Given the description of an element on the screen output the (x, y) to click on. 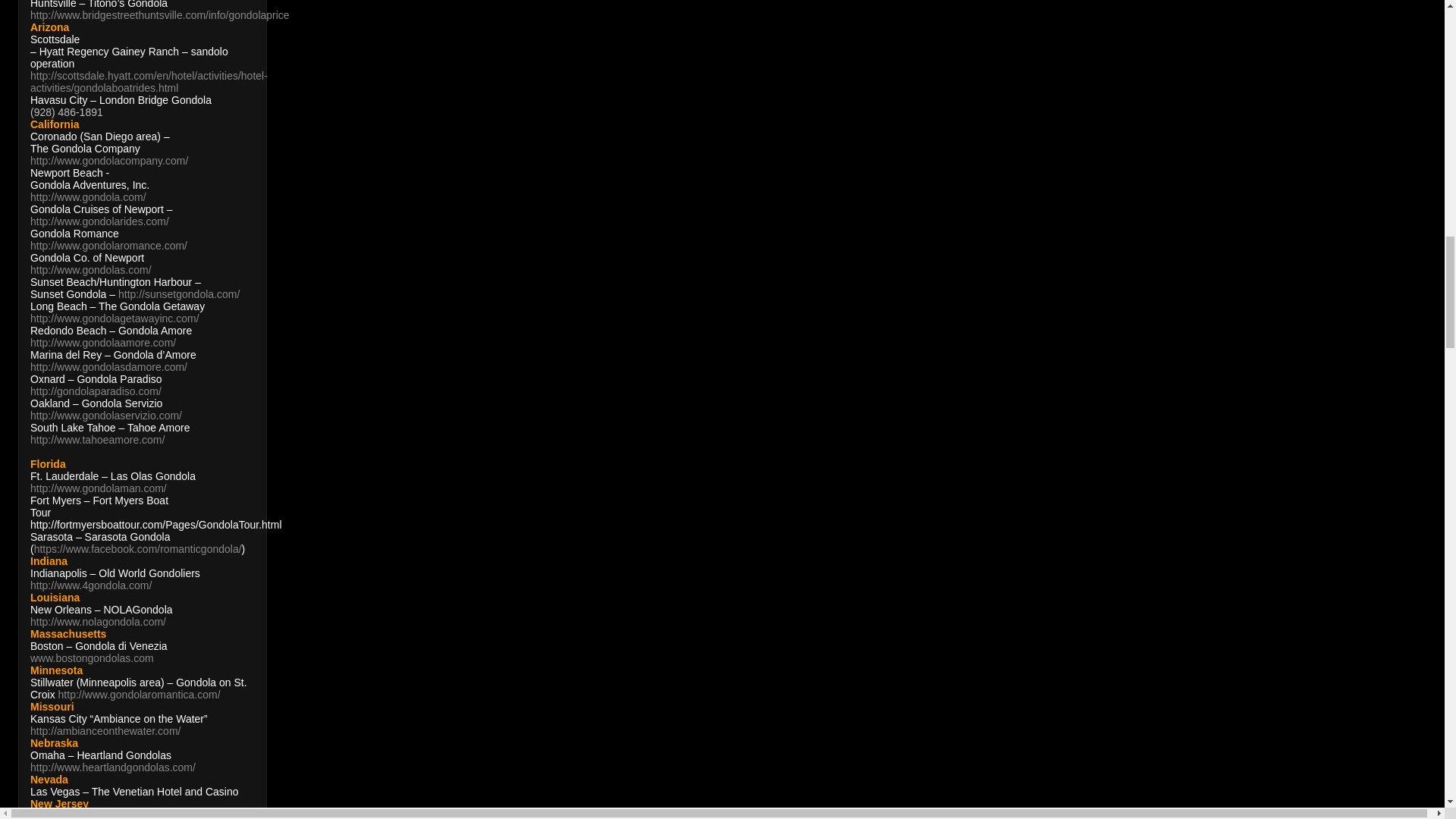
www.bostongondolas.com (92, 657)
